Given the description of an element on the screen output the (x, y) to click on. 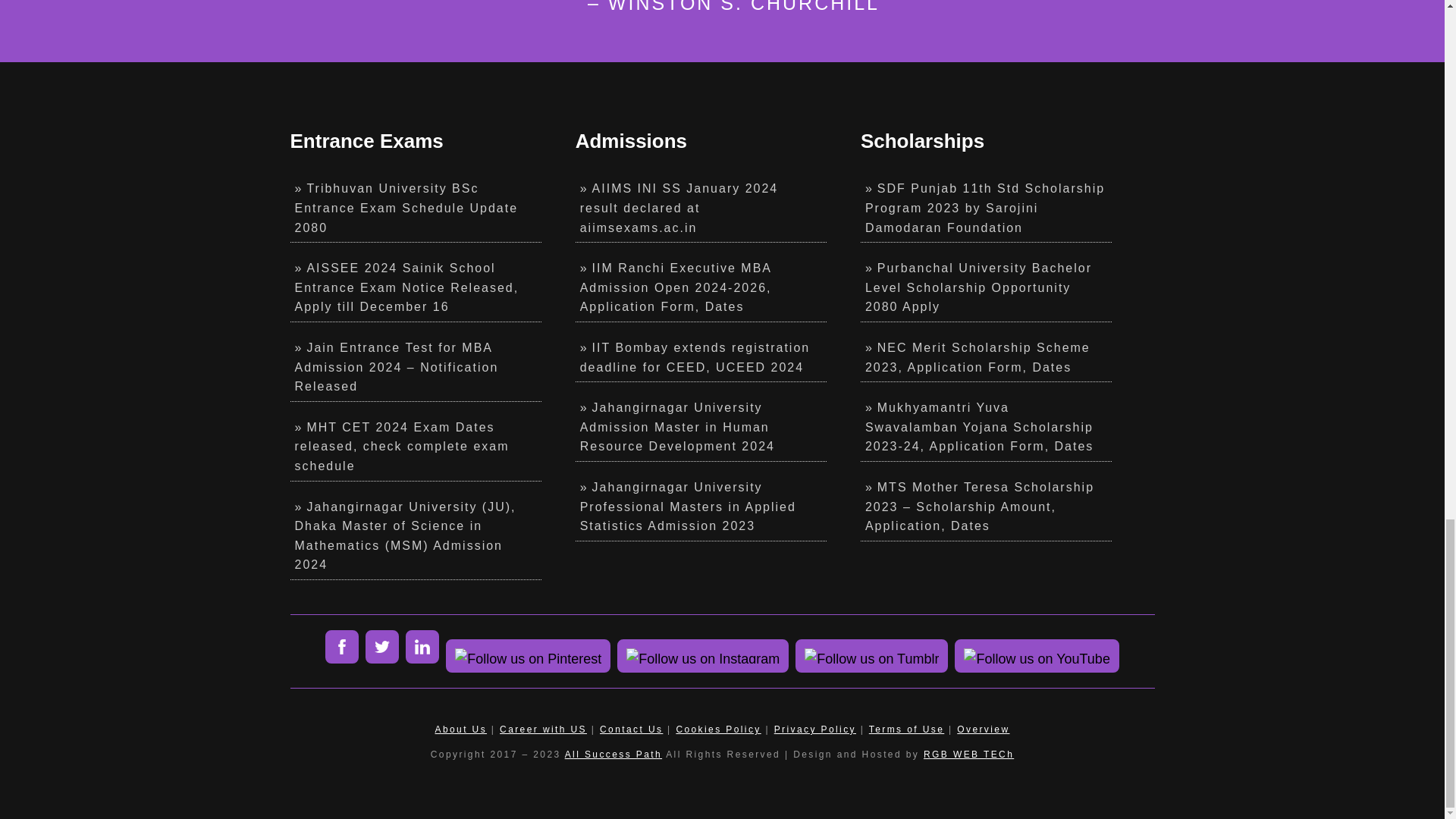
Follow us on Facebook (341, 646)
Follow us on Linkedin (422, 646)
Follow us on Pinterest (527, 655)
Follow us on Instagram (703, 655)
Follow us on Twitter (381, 646)
